Given the description of an element on the screen output the (x, y) to click on. 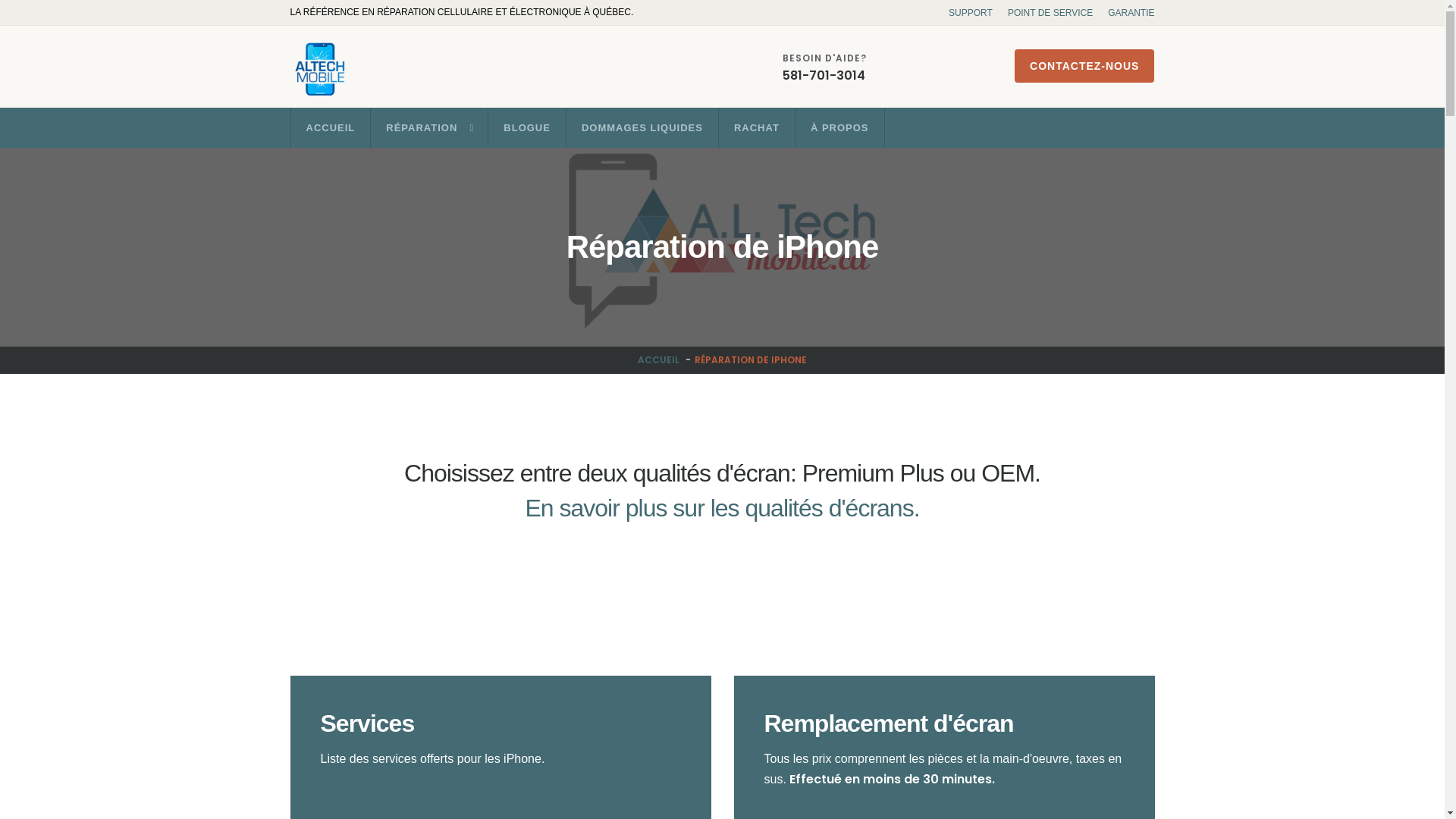
SUPPORT Element type: text (970, 12)
POINT DE SERVICE Element type: text (1049, 12)
A.L. Tech Mobile logo Element type: hover (319, 69)
ACCUEIL Element type: text (658, 359)
GARANTIE Element type: text (1130, 12)
RACHAT Element type: text (756, 127)
CONTACTEZ-NOUS Element type: text (1084, 65)
ACCUEIL Element type: text (329, 127)
BLOGUE Element type: text (526, 127)
DOMMAGES LIQUIDES Element type: text (641, 127)
